Given the description of an element on the screen output the (x, y) to click on. 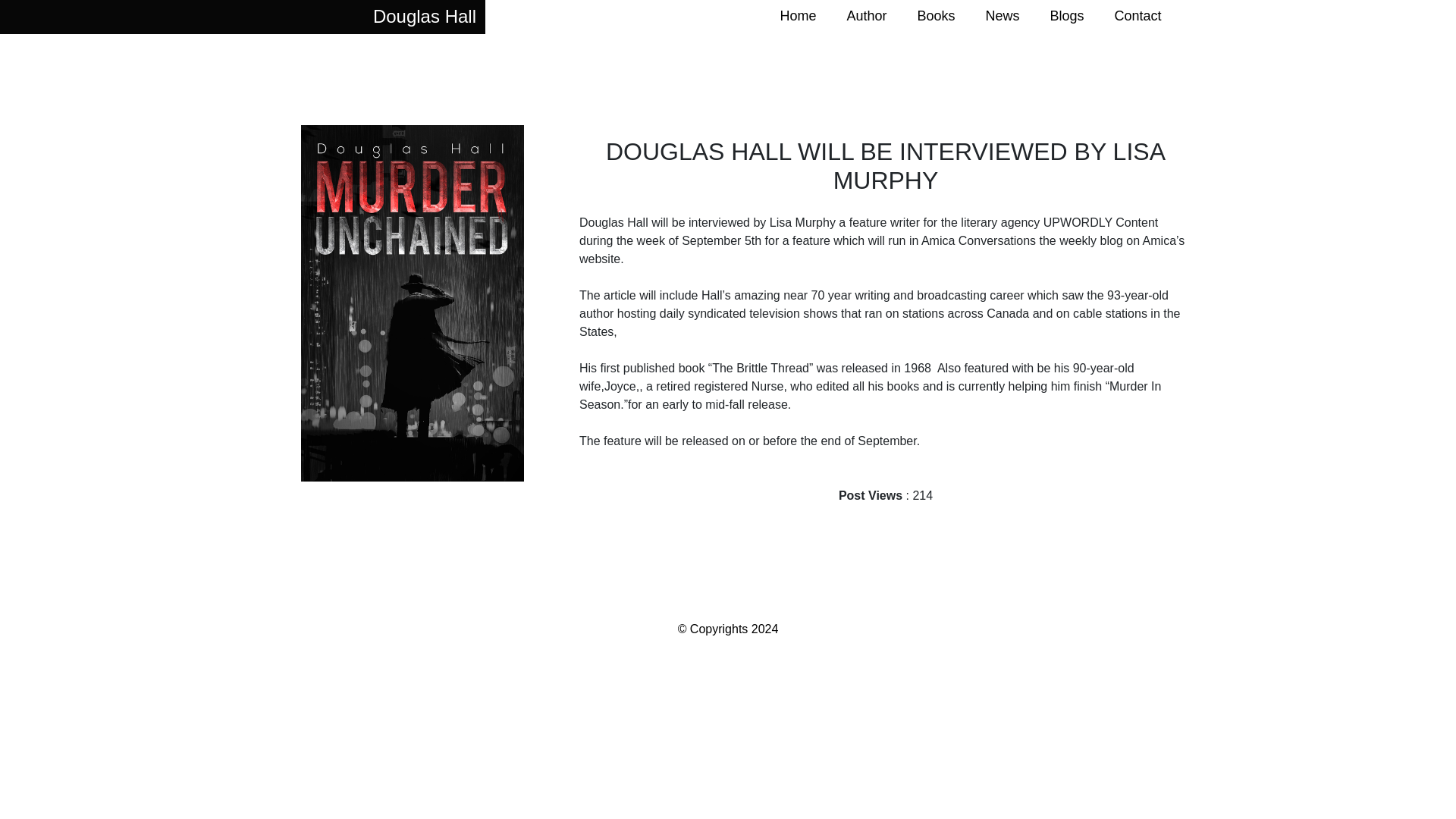
Blogs (1066, 15)
Books (935, 15)
News (1001, 15)
Contact (1137, 15)
Douglas Hall (242, 17)
Author (866, 15)
Home (797, 15)
